Given the description of an element on the screen output the (x, y) to click on. 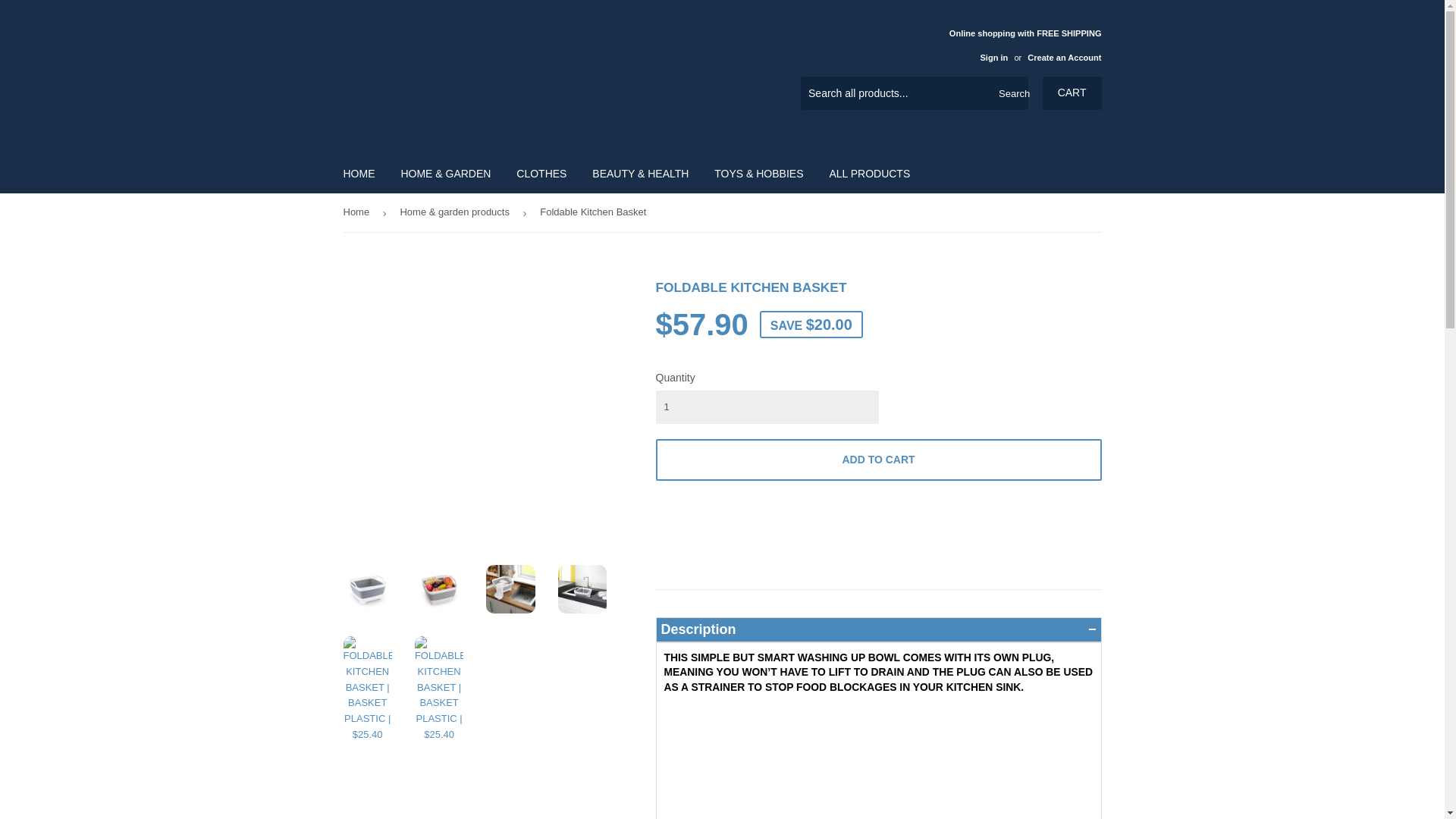
1 (766, 407)
Create an Account (1063, 57)
Sign in (993, 57)
CART (1072, 92)
Online shopping with FREE SHIPPING (1025, 45)
Search (1010, 93)
